Given the description of an element on the screen output the (x, y) to click on. 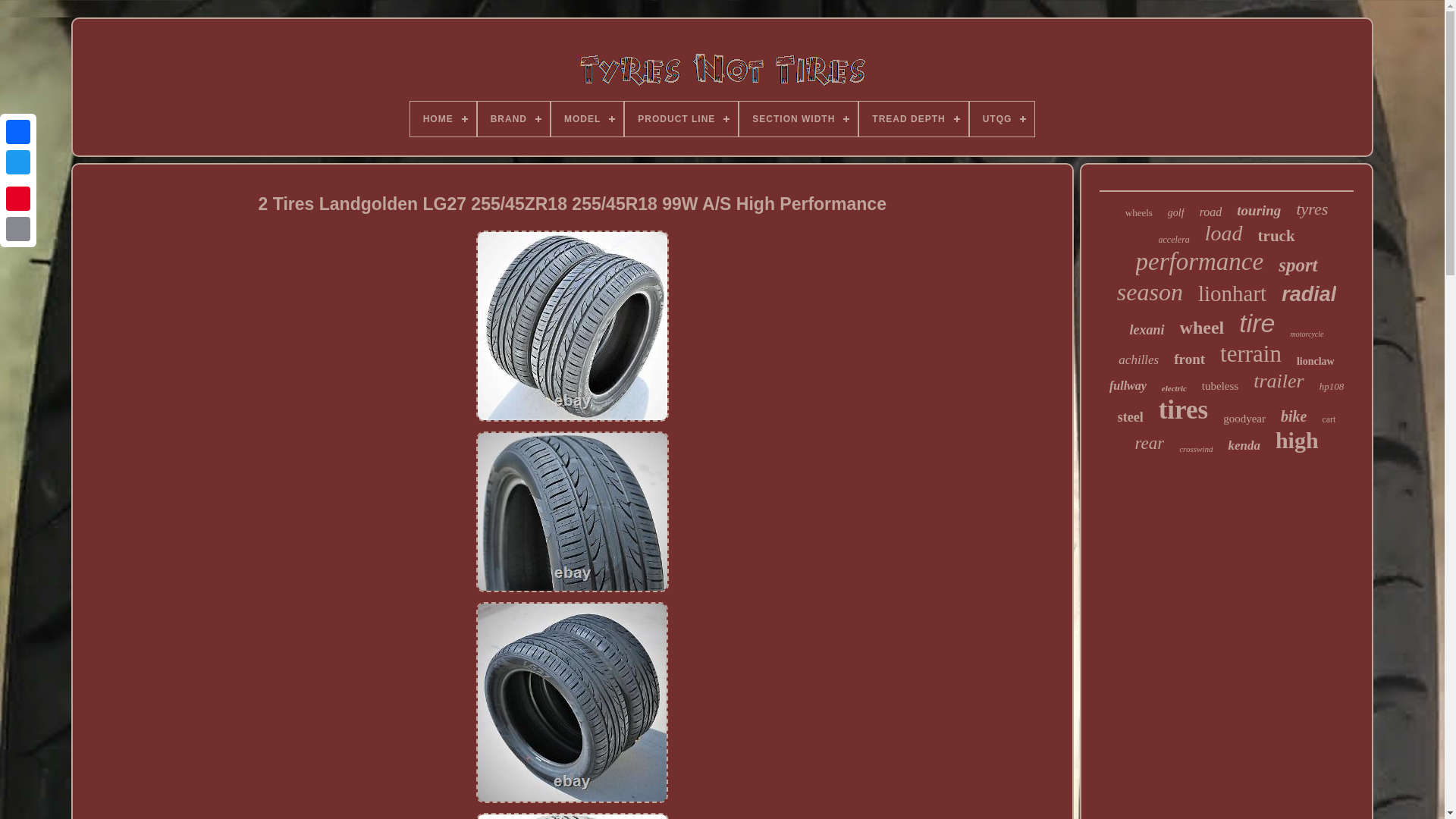
MODEL (587, 118)
BRAND (513, 118)
HOME (443, 118)
